Given the description of an element on the screen output the (x, y) to click on. 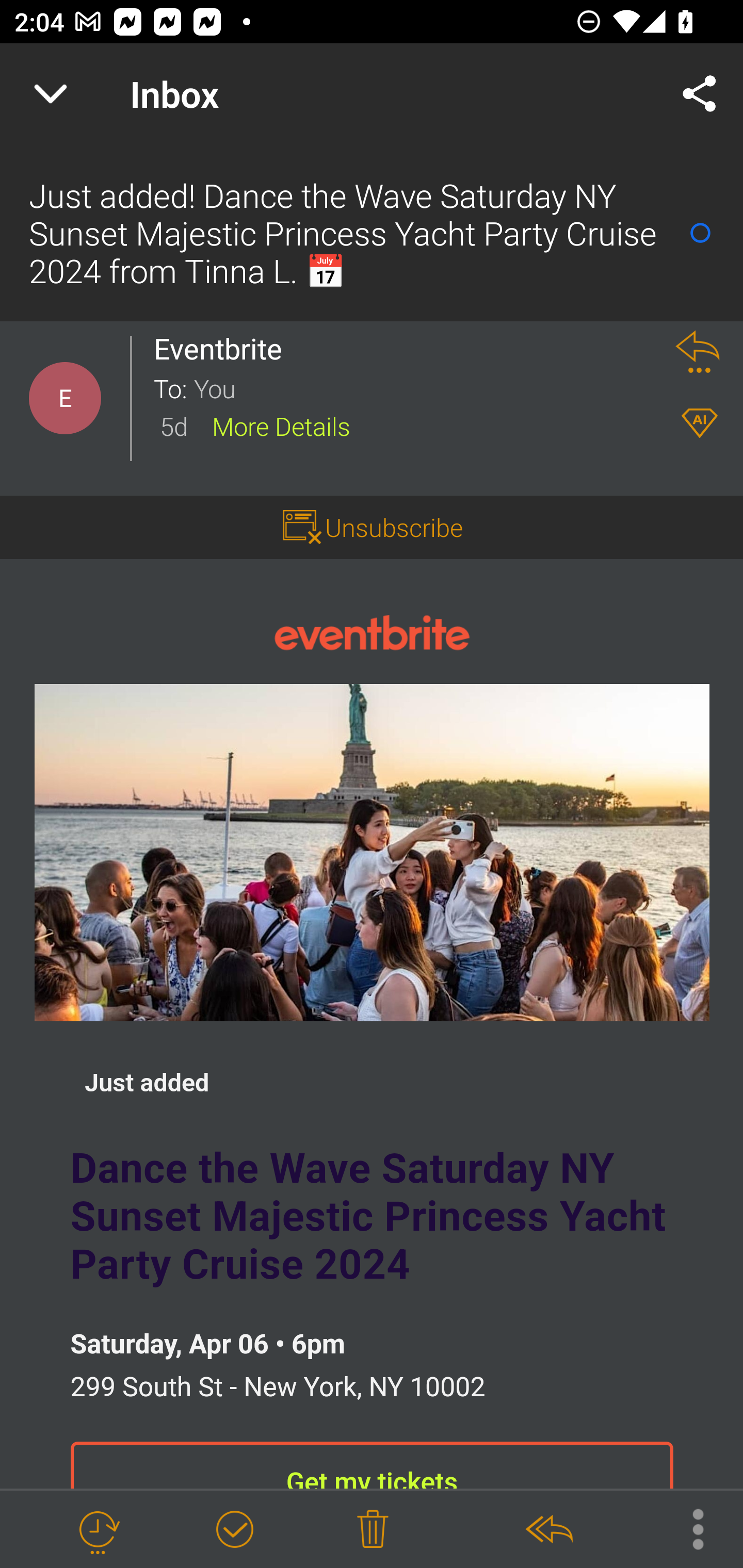
Navigate up (50, 93)
Share (699, 93)
Mark as Read (699, 232)
Eventbrite (222, 348)
Contact Details (64, 398)
More Details (280, 424)
Unsubscribe (393, 526)
Eventbrite (371, 631)
More Options (687, 1528)
Snooze (97, 1529)
Mark as Done (234, 1529)
Delete (372, 1529)
Reply All (548, 1529)
